Given the description of an element on the screen output the (x, y) to click on. 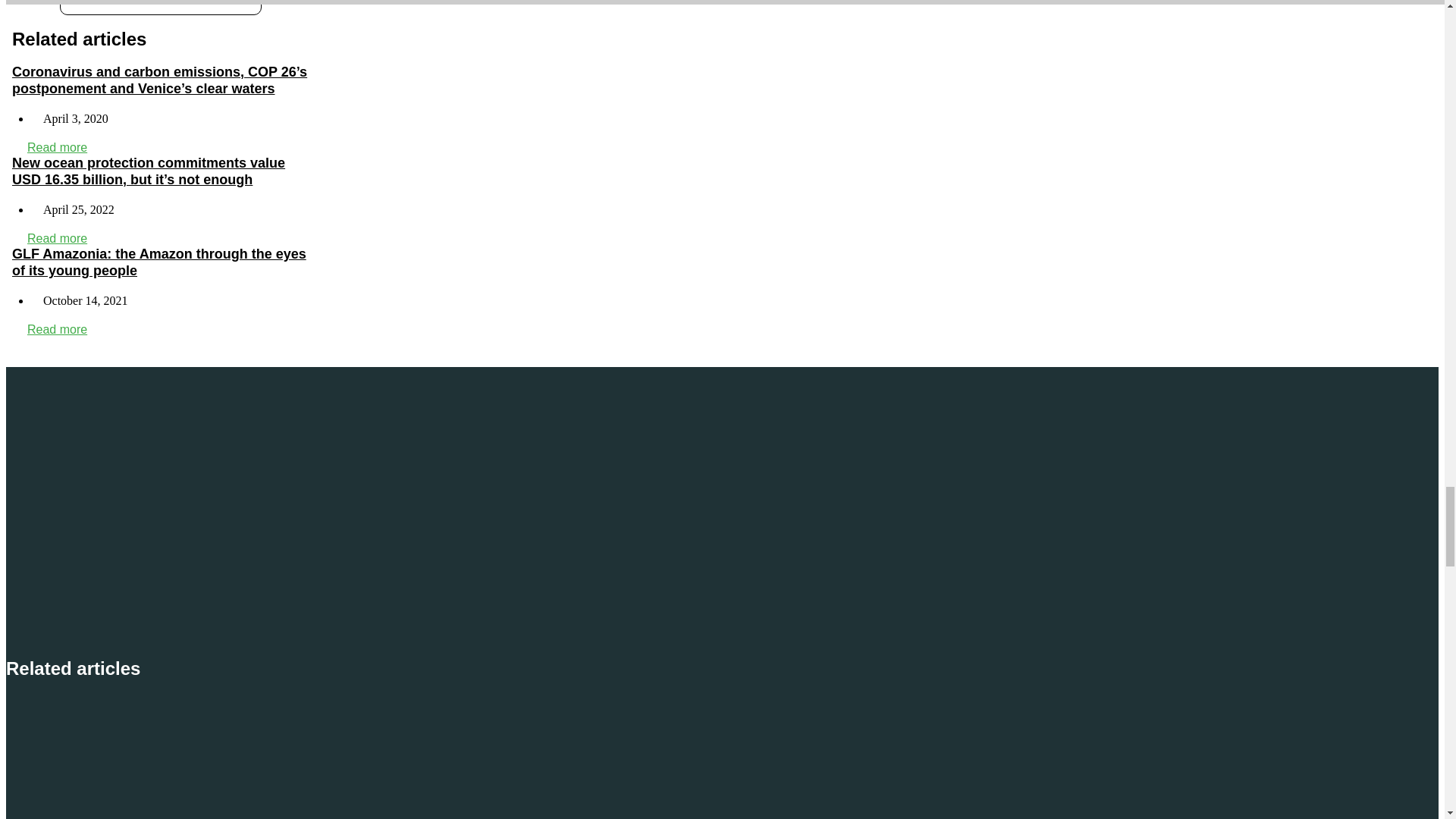
Read more (57, 146)
Read more (57, 328)
Read more (57, 237)
